Given the description of an element on the screen output the (x, y) to click on. 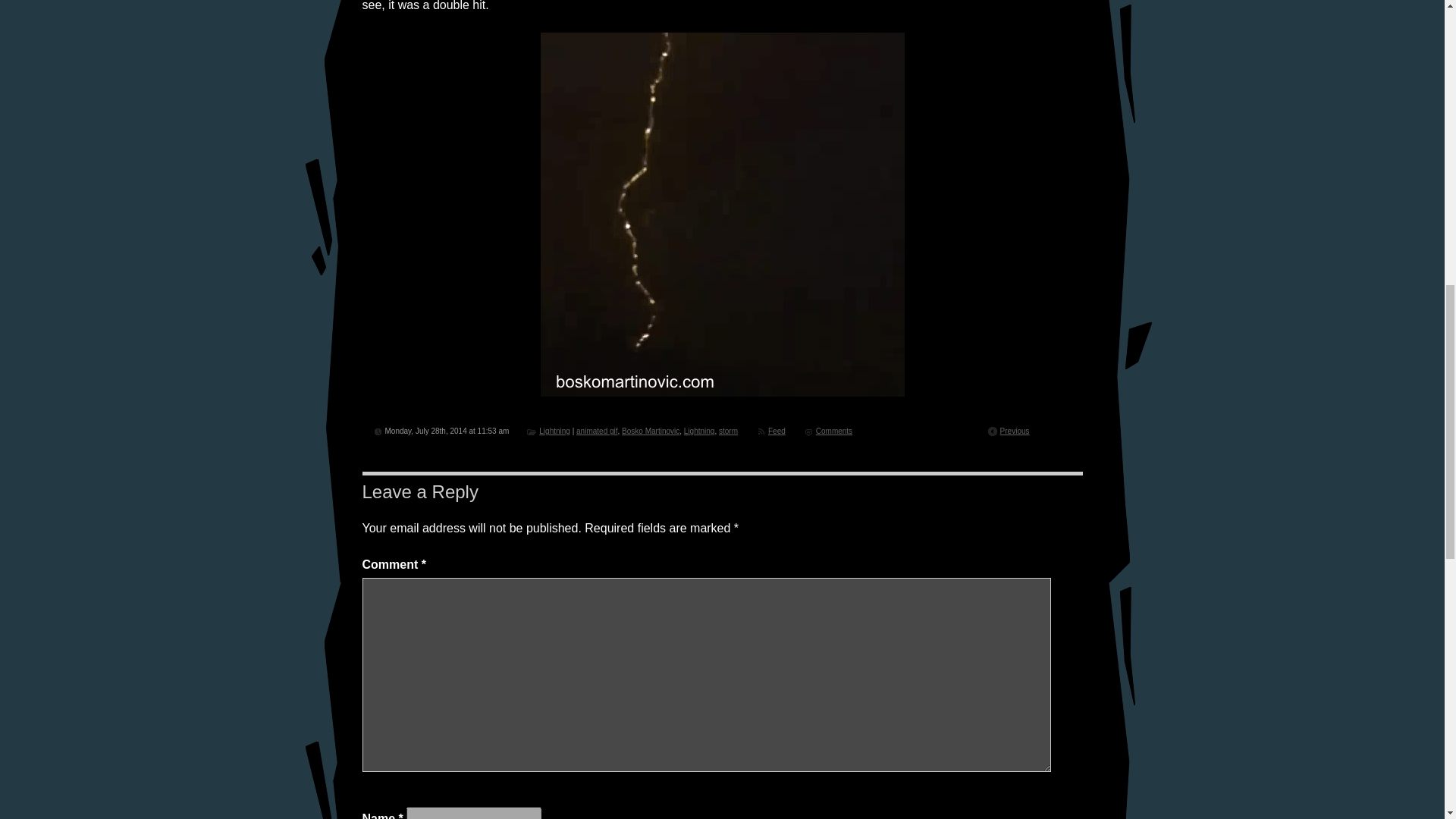
storm (728, 430)
Comments (833, 430)
Lightning (699, 430)
Bosko Martinovic (650, 430)
Feed (777, 430)
Lightning (554, 430)
Previous (1014, 430)
animated gif (596, 430)
